Given the description of an element on the screen output the (x, y) to click on. 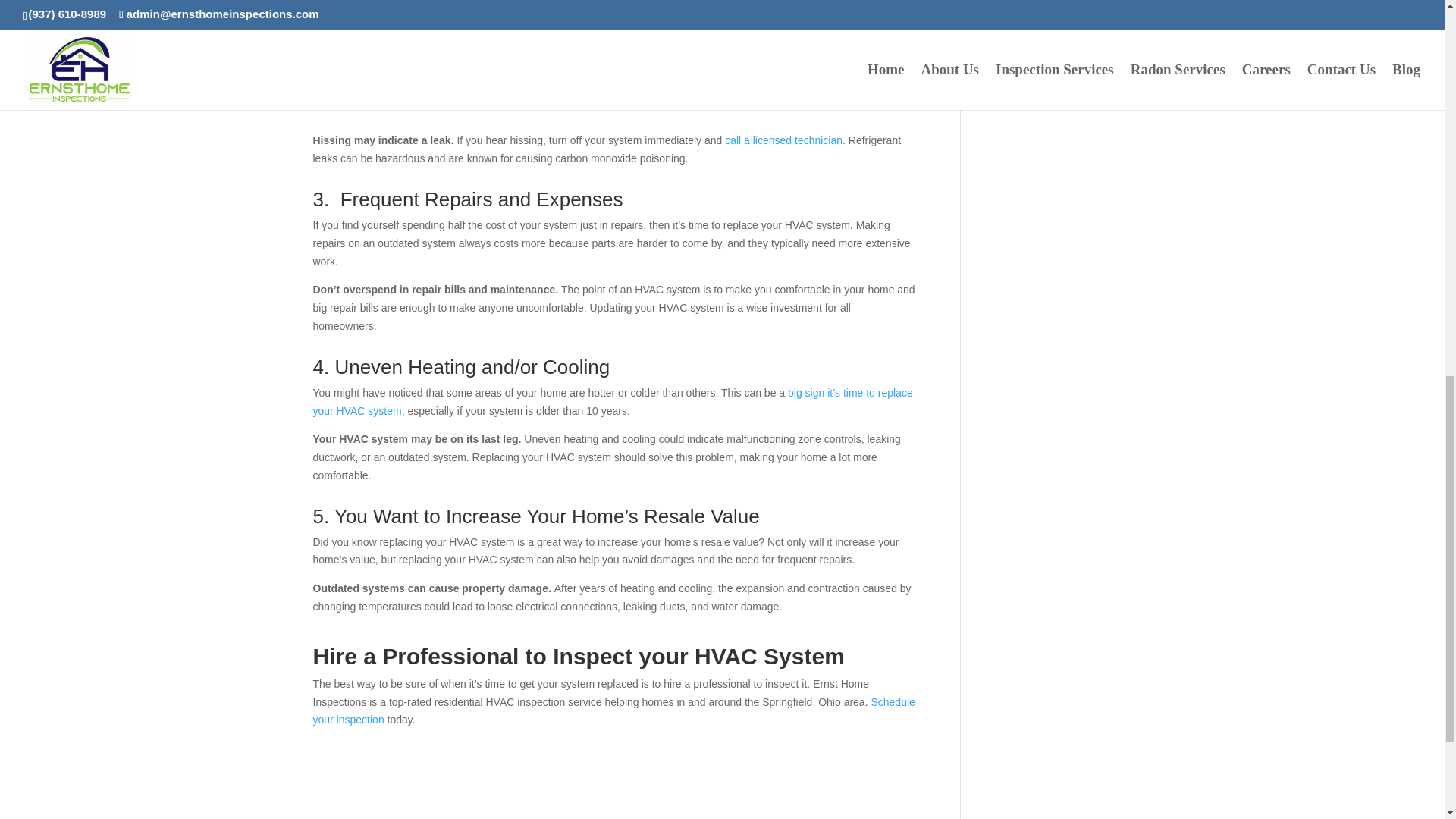
call a licensed technician (784, 140)
Schedule your inspection (613, 711)
